Given the description of an element on the screen output the (x, y) to click on. 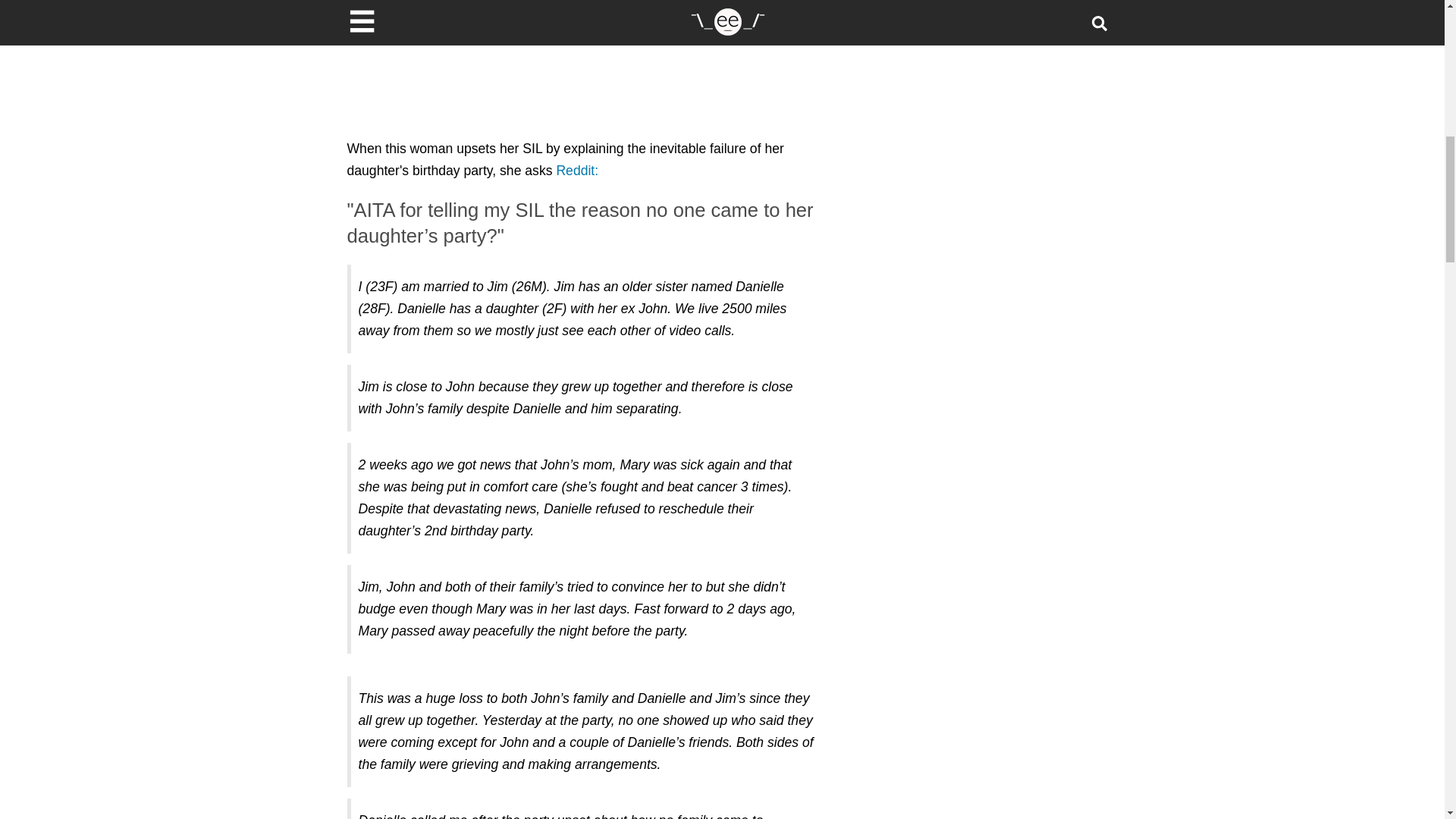
Reddit: (577, 170)
